Given the description of an element on the screen output the (x, y) to click on. 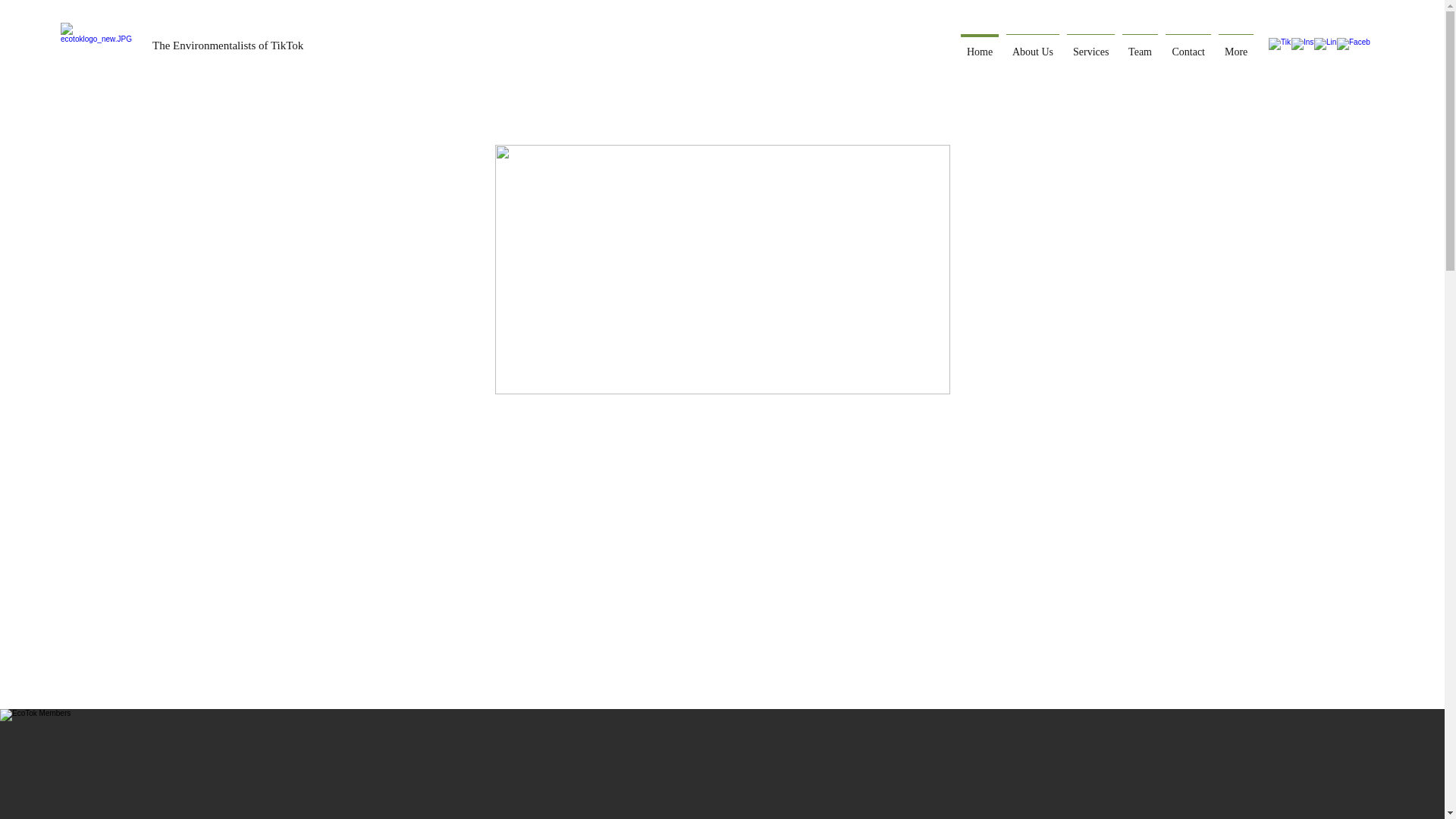
Contact (1187, 45)
Services (1090, 45)
Home (979, 45)
About Us (1032, 45)
Team (1139, 45)
